Given the description of an element on the screen output the (x, y) to click on. 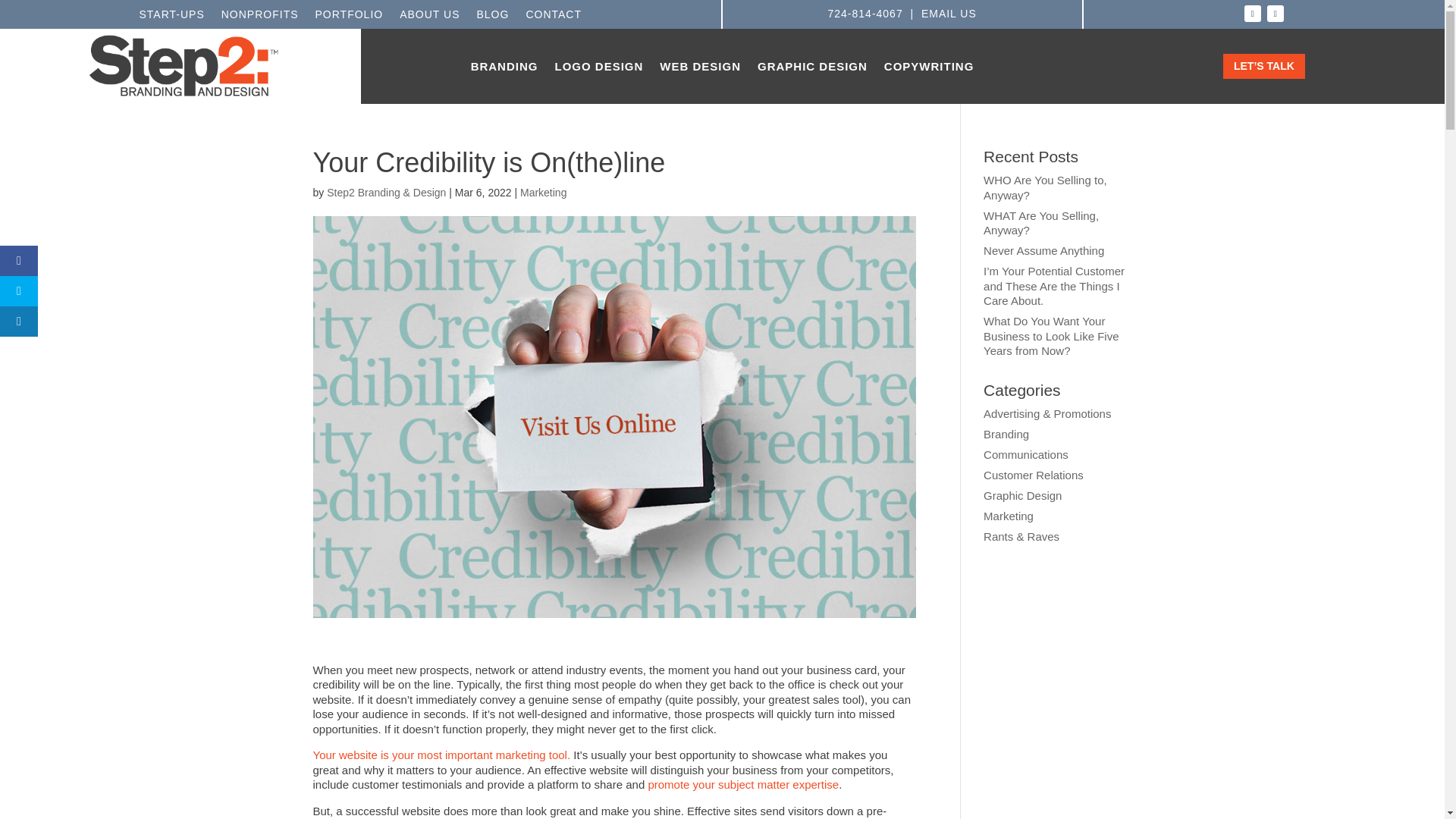
EMAIL US (948, 13)
Your website is your most important marketing tool. (441, 754)
Follow on LinkedIn (1275, 13)
Follow on Facebook (1252, 13)
WEB DESIGN (700, 69)
BLOG (492, 17)
NONPROFITS (259, 17)
BRANDING (504, 69)
COPYWRITING (928, 69)
PORTFOLIO (349, 17)
START-UPS (170, 17)
724-814-4067 (865, 13)
promote your subject matter expertise (742, 784)
CONTACT (552, 17)
LOGO DESIGN (598, 69)
